Given the description of an element on the screen output the (x, y) to click on. 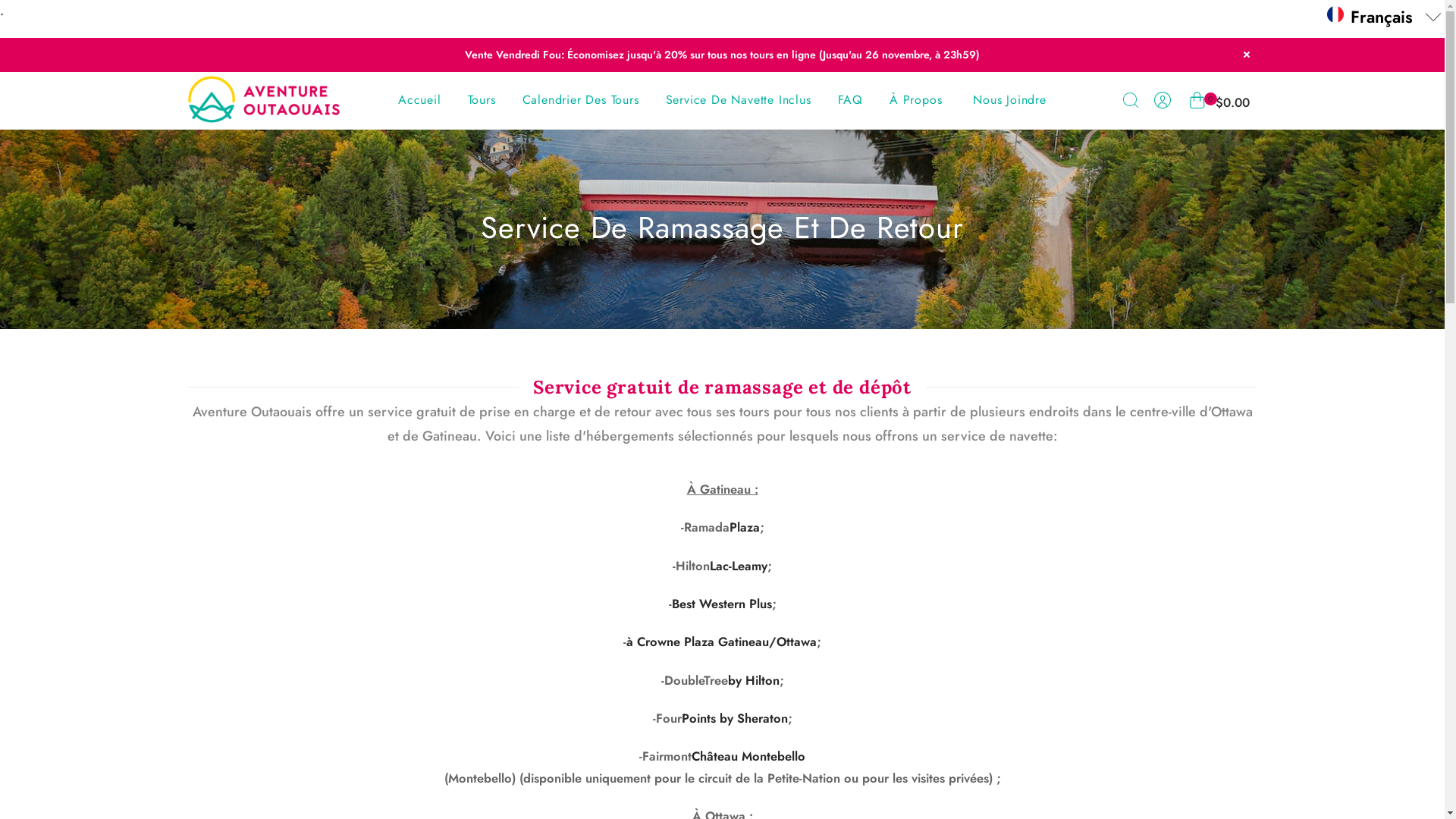
Service De Navette Inclus Element type: text (738, 99)
Lac-Leamy Element type: text (738, 565)
Points by Sheraton Element type: text (733, 718)
Plaza Element type: text (744, 526)
Best Western Plus Element type: text (721, 603)
FAQ Element type: text (849, 99)
0 Element type: text (1196, 102)
Nous Joindre Element type: text (1010, 99)
Accueil Element type: text (420, 99)
by Hilton Element type: text (753, 680)
Calendrier Des Tours Element type: text (580, 99)
Tours Element type: text (481, 99)
